Given the description of an element on the screen output the (x, y) to click on. 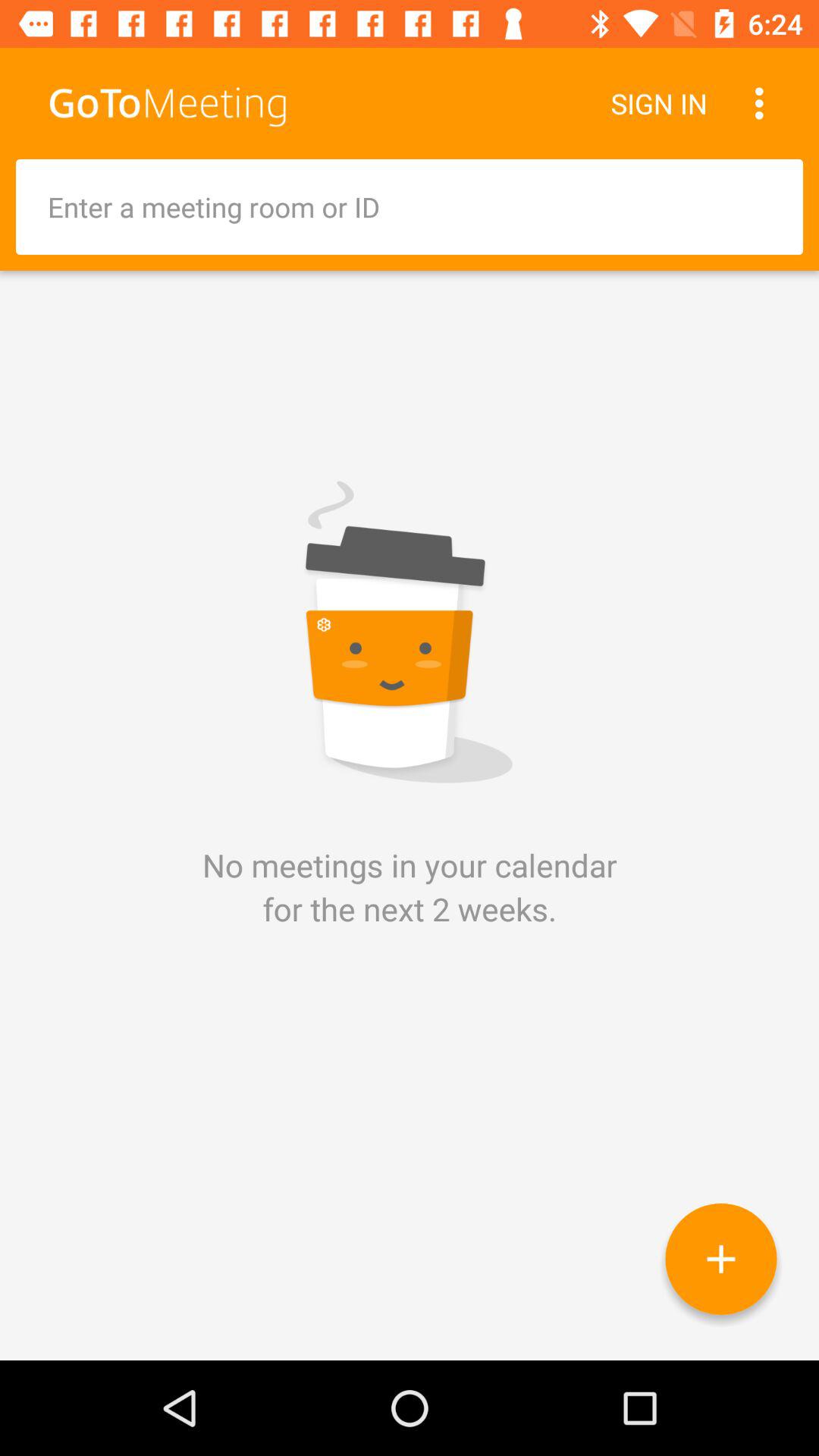
tap icon below the no meetings in (720, 1258)
